Given the description of an element on the screen output the (x, y) to click on. 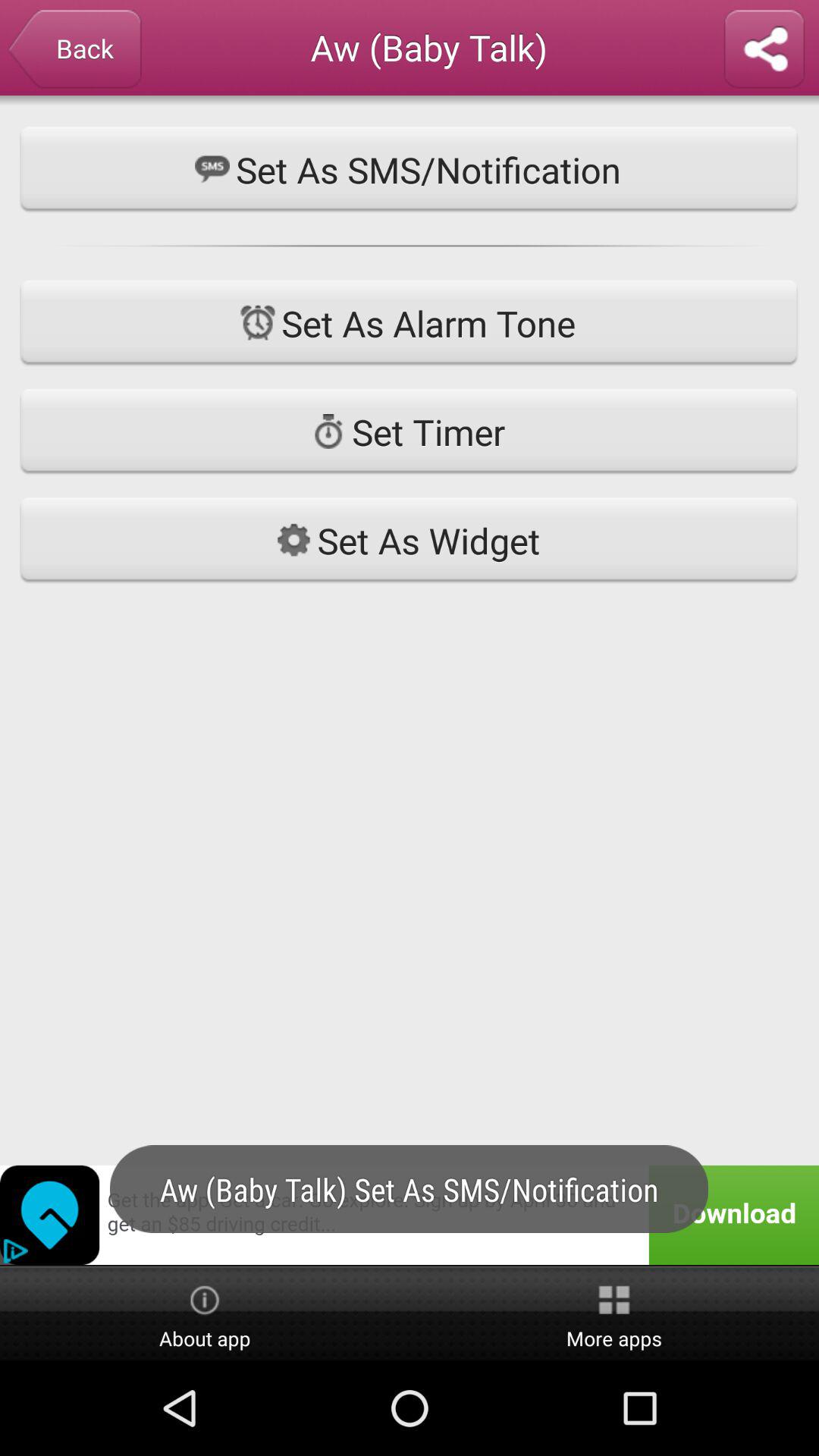
share this one (764, 50)
